Given the description of an element on the screen output the (x, y) to click on. 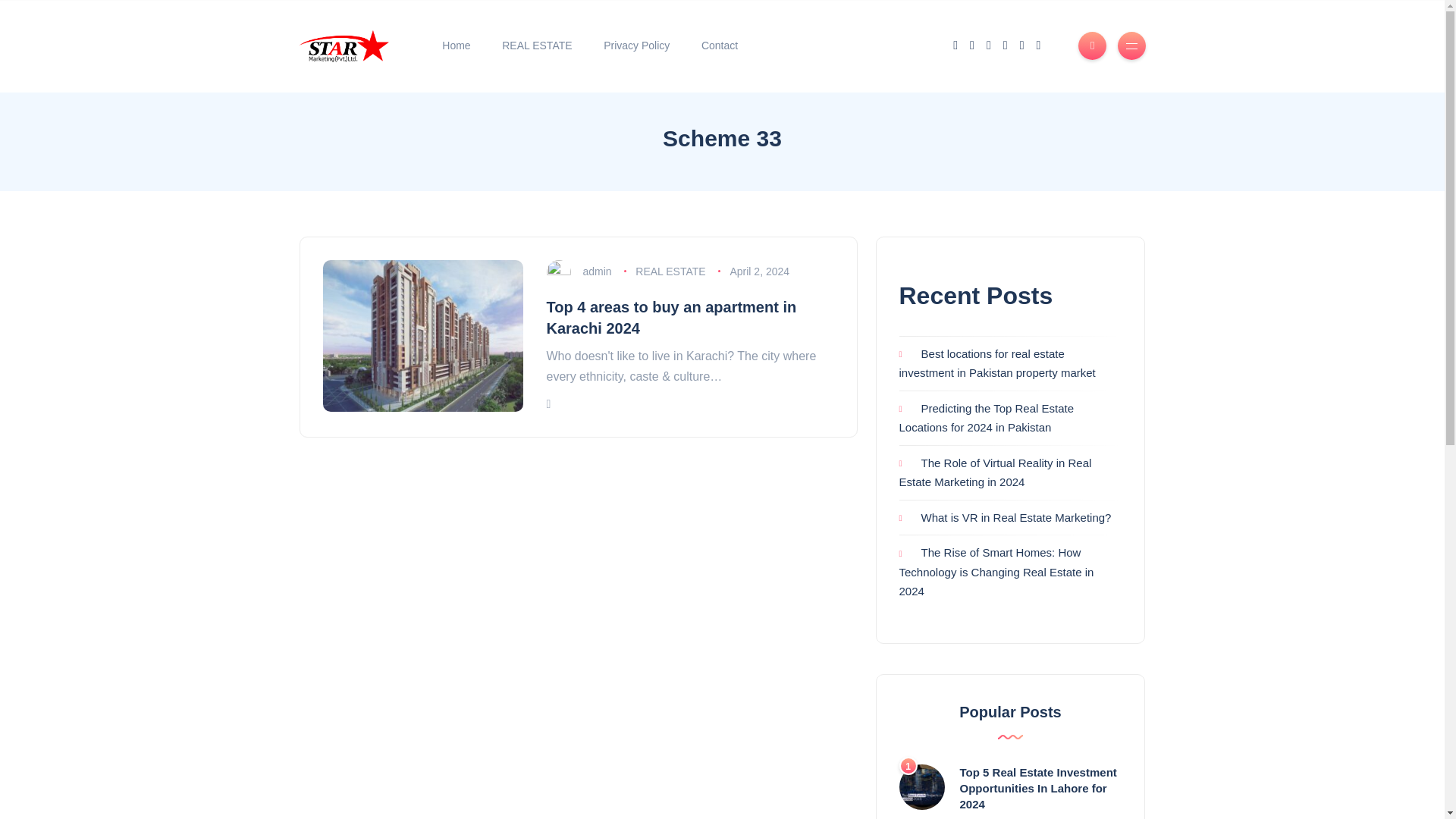
Privacy Policy (636, 45)
REAL ESTATE (537, 45)
Posts by admin (596, 271)
Home (456, 45)
Contact (719, 45)
